Given the description of an element on the screen output the (x, y) to click on. 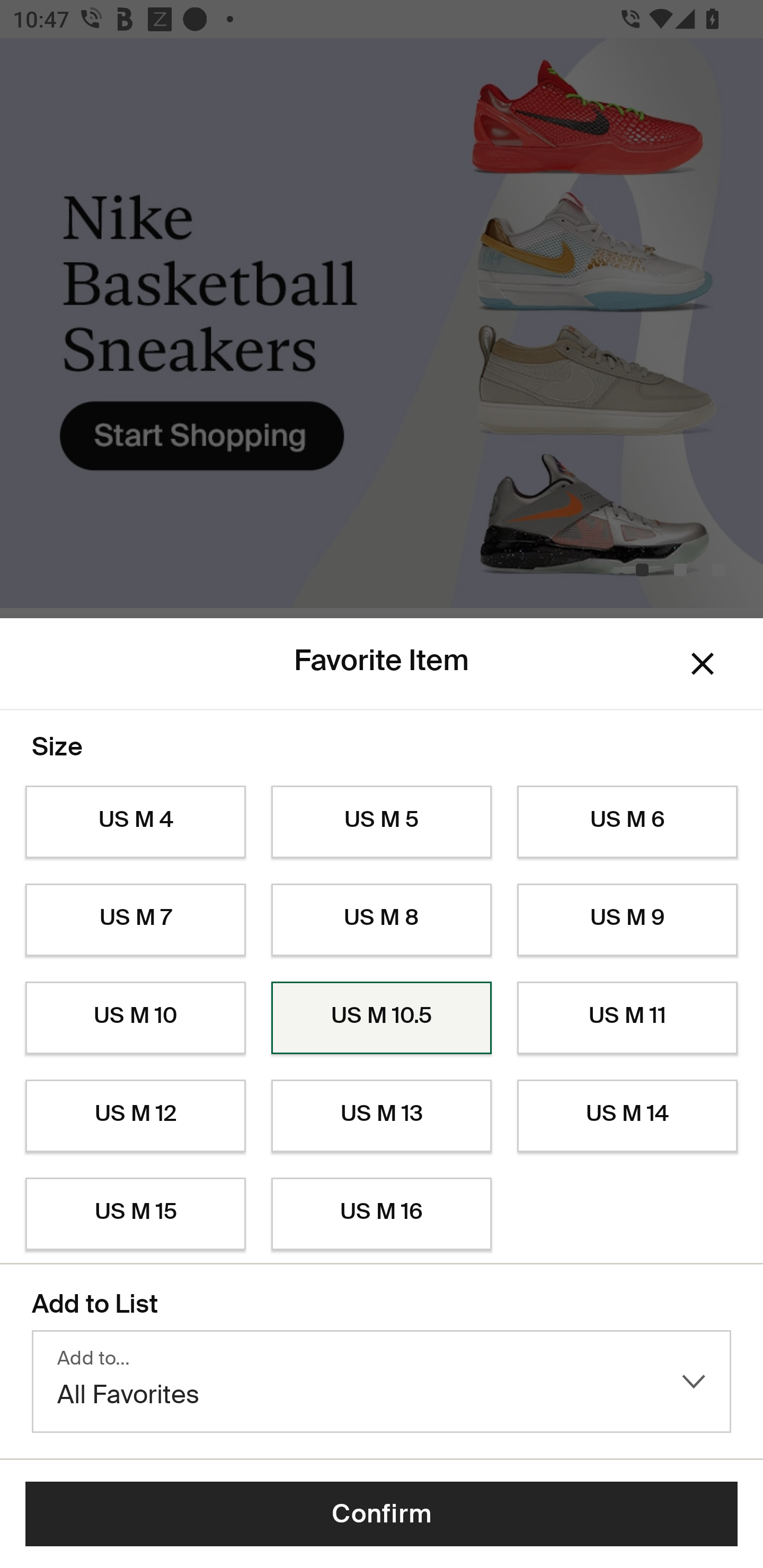
Dismiss (702, 663)
US M 4 (135, 822)
US M 5 (381, 822)
US M 6 (627, 822)
US M 7 (135, 919)
US M 8 (381, 919)
US M 9 (627, 919)
US M 10 (135, 1018)
US M 10.5 (381, 1018)
US M 11 (627, 1018)
US M 12 (135, 1116)
US M 13 (381, 1116)
US M 14 (627, 1116)
US M 15 (135, 1214)
US M 16 (381, 1214)
Add to… All Favorites (381, 1381)
Confirm (381, 1513)
